Given the description of an element on the screen output the (x, y) to click on. 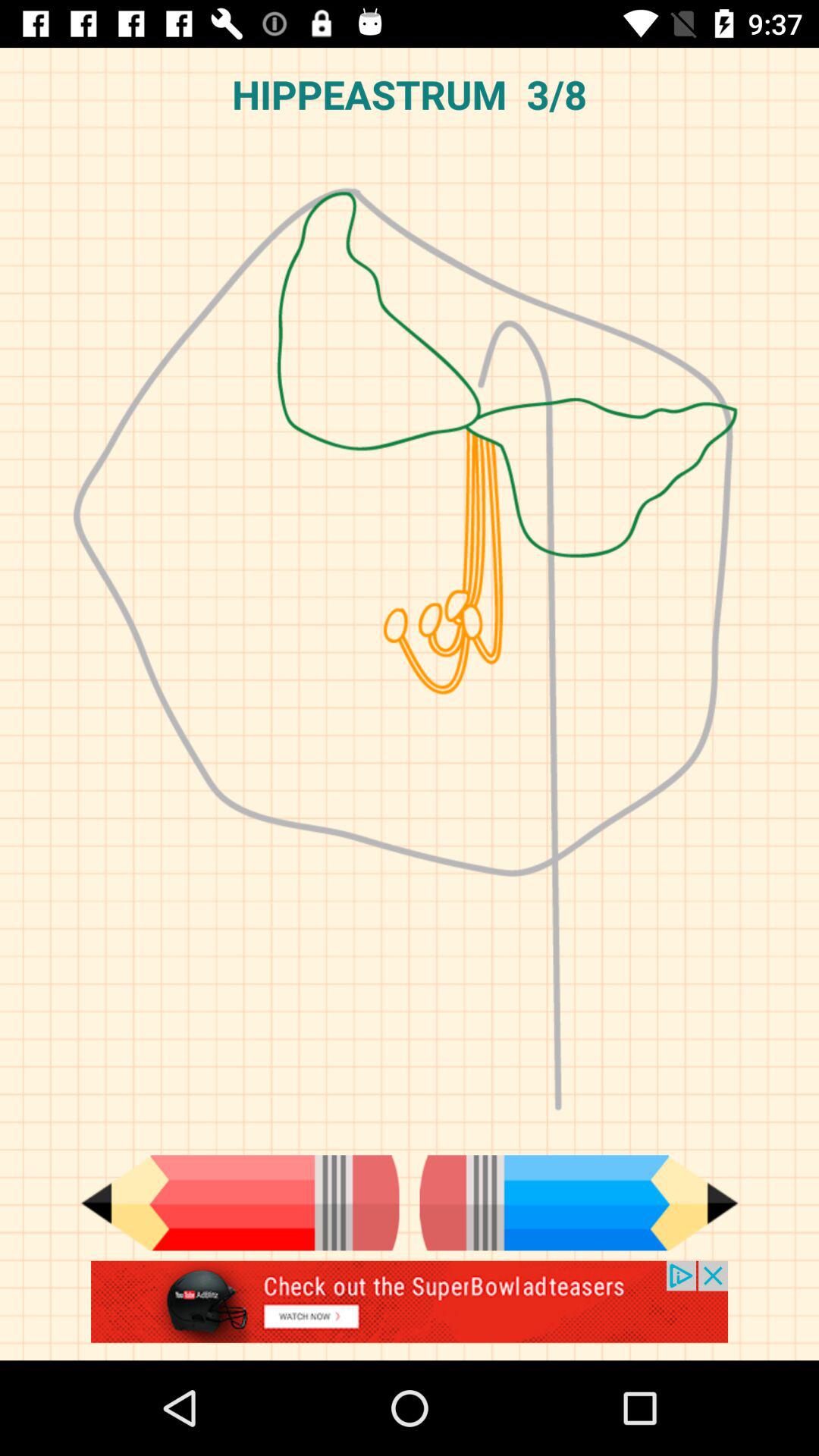
go back (239, 1202)
